Given the description of an element on the screen output the (x, y) to click on. 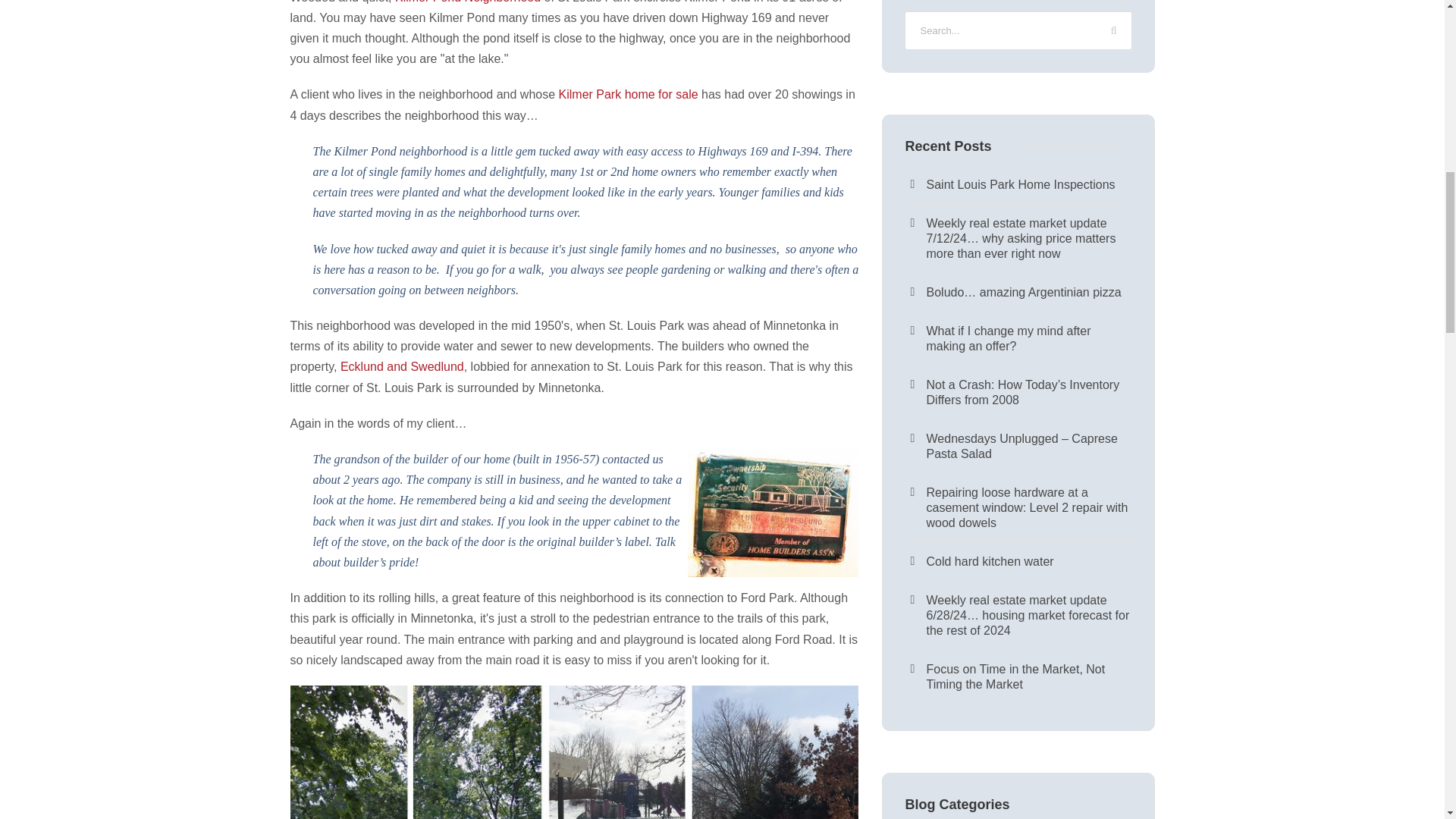
1820 Parker Rd - kitchen plate1 (773, 512)
Kilmer-3 (574, 752)
